Given the description of an element on the screen output the (x, y) to click on. 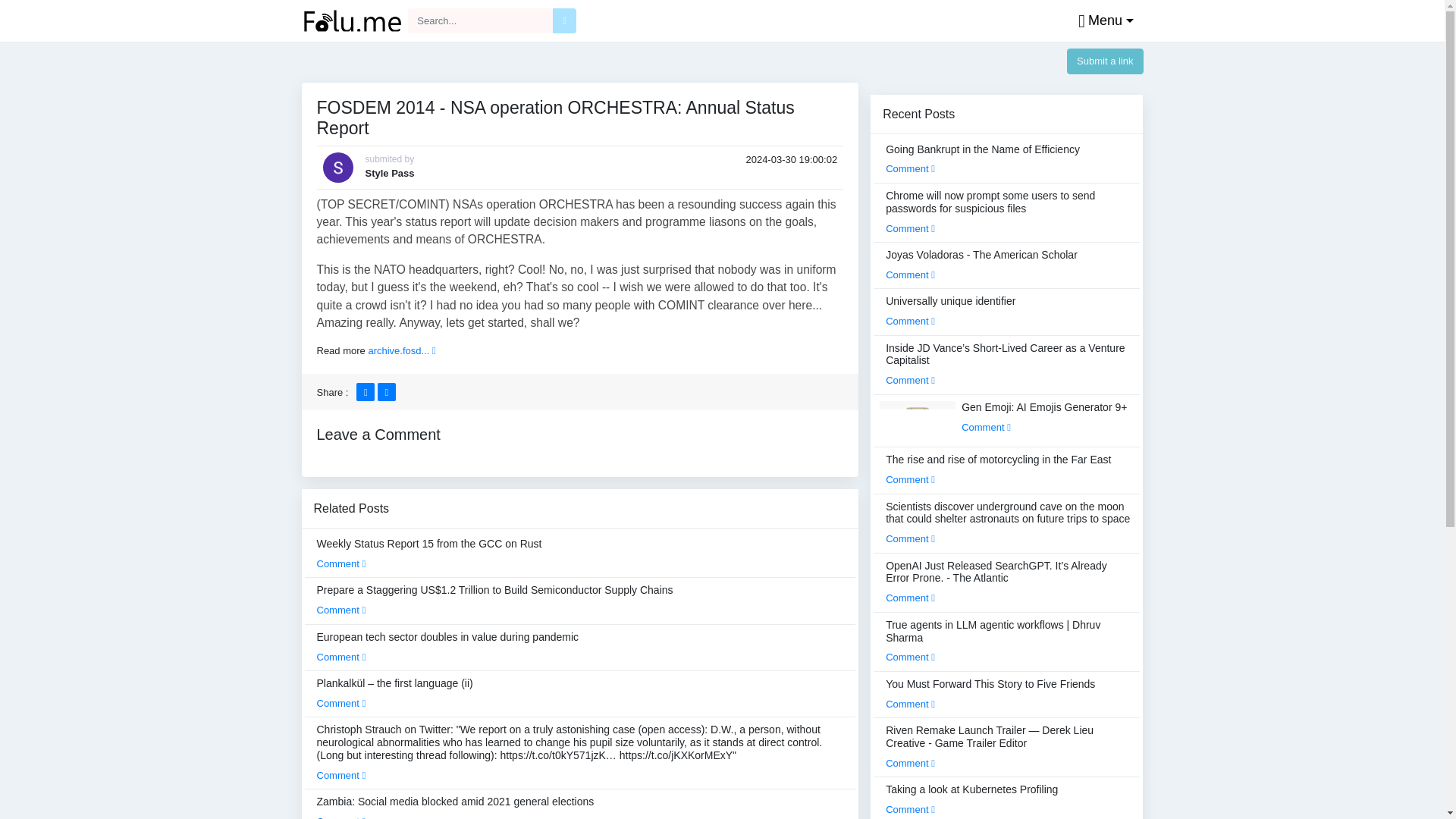
Comment (341, 817)
Comment (341, 775)
Weekly Status Report 15 from the GCC on Rust (429, 553)
archive.fosd... (401, 350)
Menu (1101, 20)
Submit a link (1104, 61)
Comment (341, 609)
European tech sector doubles in value during pandemic (448, 646)
Zambia: Social media blocked amid 2021 general elections (455, 807)
Comment (341, 563)
Comment (341, 703)
Comment (341, 655)
